Given the description of an element on the screen output the (x, y) to click on. 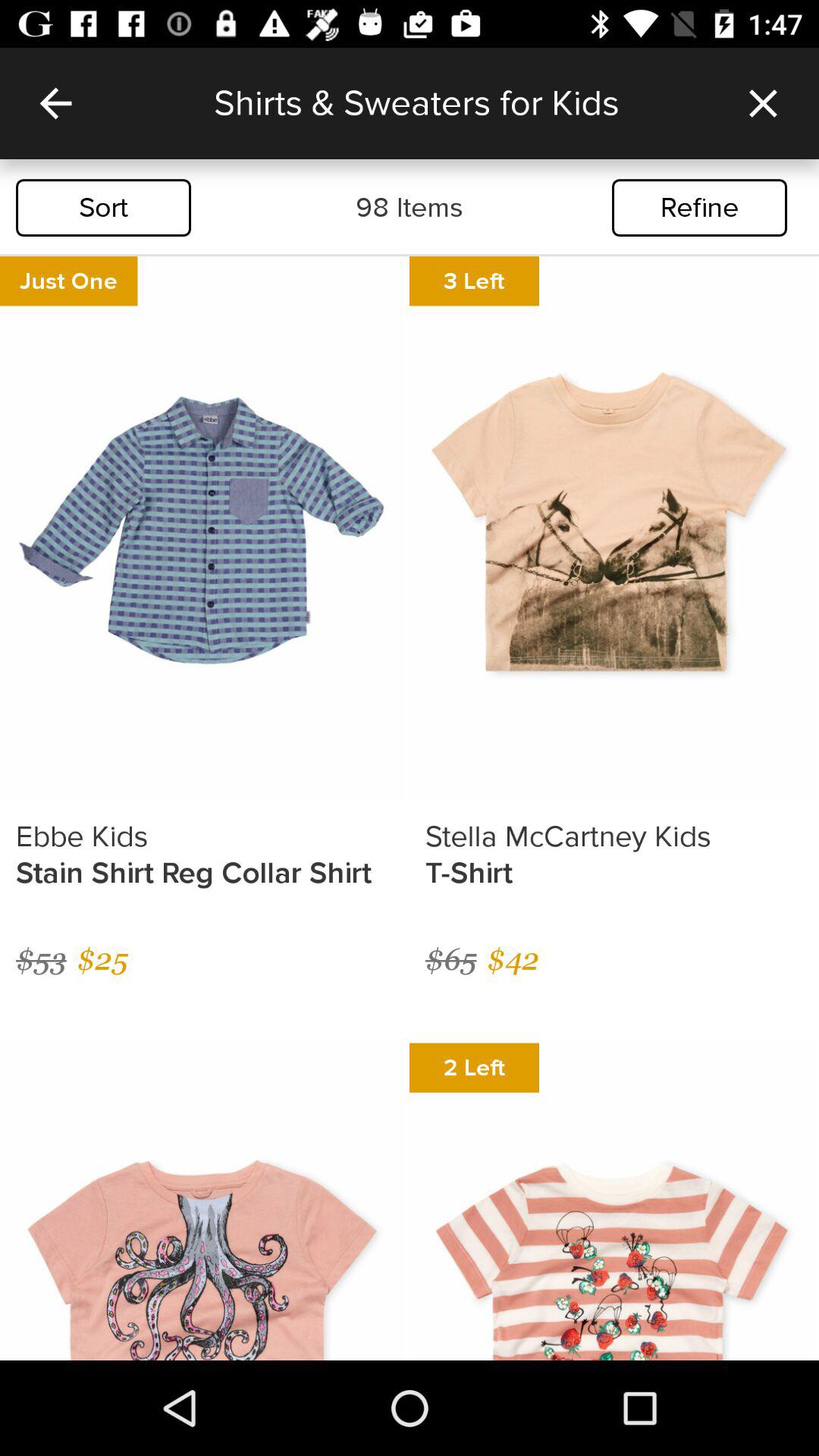
choose icon to the left of the shirts sweaters for icon (55, 103)
